Given the description of an element on the screen output the (x, y) to click on. 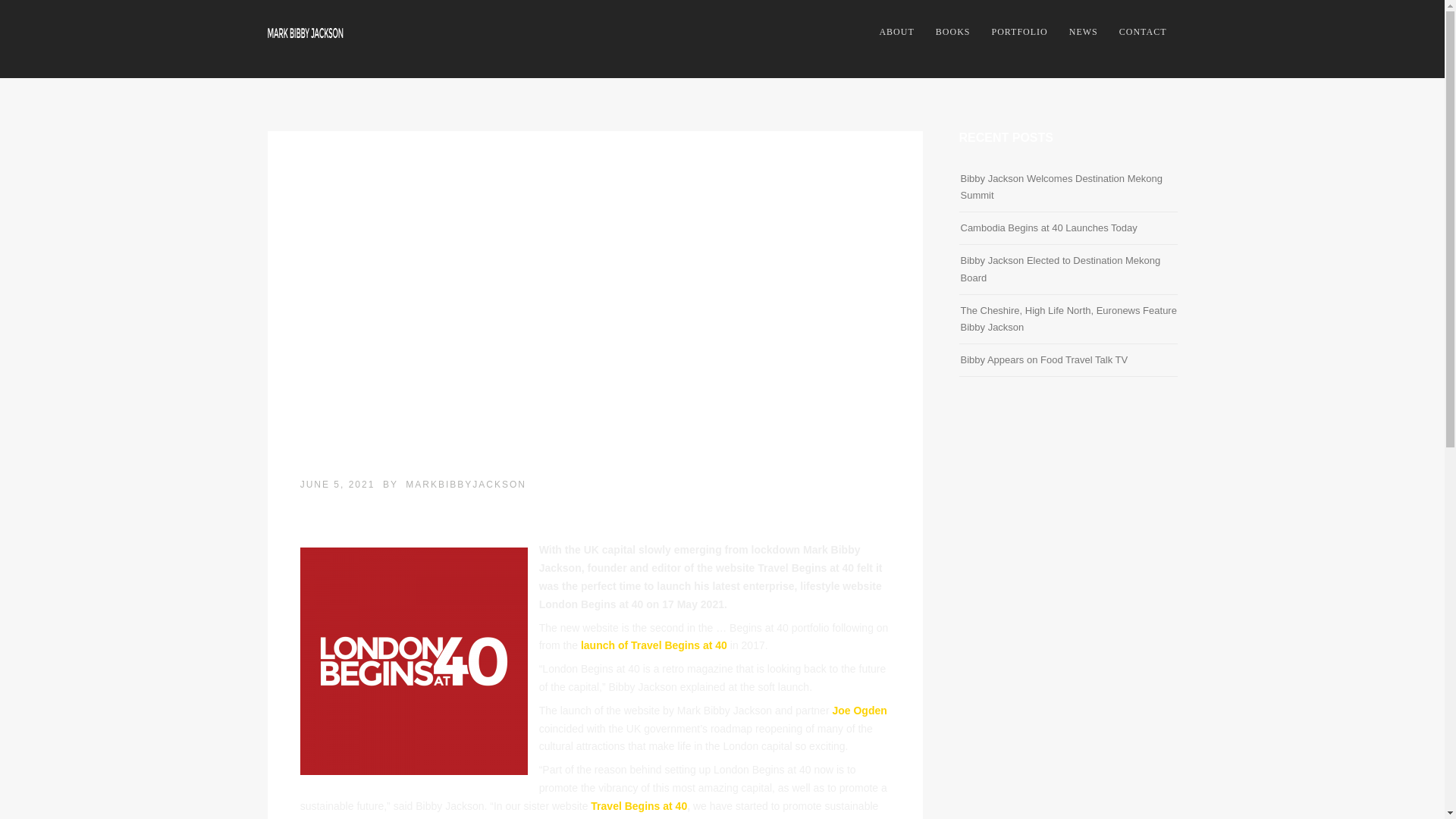
Bibby Jackson Welcomes Destination Mekong Summit (1060, 186)
launch of Travel Begins at 40 (652, 645)
Cambodia Begins at 40 Launches Today (1048, 227)
Joe Ogden (858, 710)
MARKBIBBYJACKSON (465, 484)
NEWS (1083, 31)
PORTFOLIO (1018, 31)
About Mark Bibby Jackson (895, 31)
CONTACT (1142, 31)
Travel Begins at 40 (639, 806)
BOOKS (952, 31)
ABOUT (895, 31)
Bibby Appears on Food Travel Talk TV (1042, 359)
Bibby Jackson Elected to Destination Mekong Board (1059, 268)
